Given the description of an element on the screen output the (x, y) to click on. 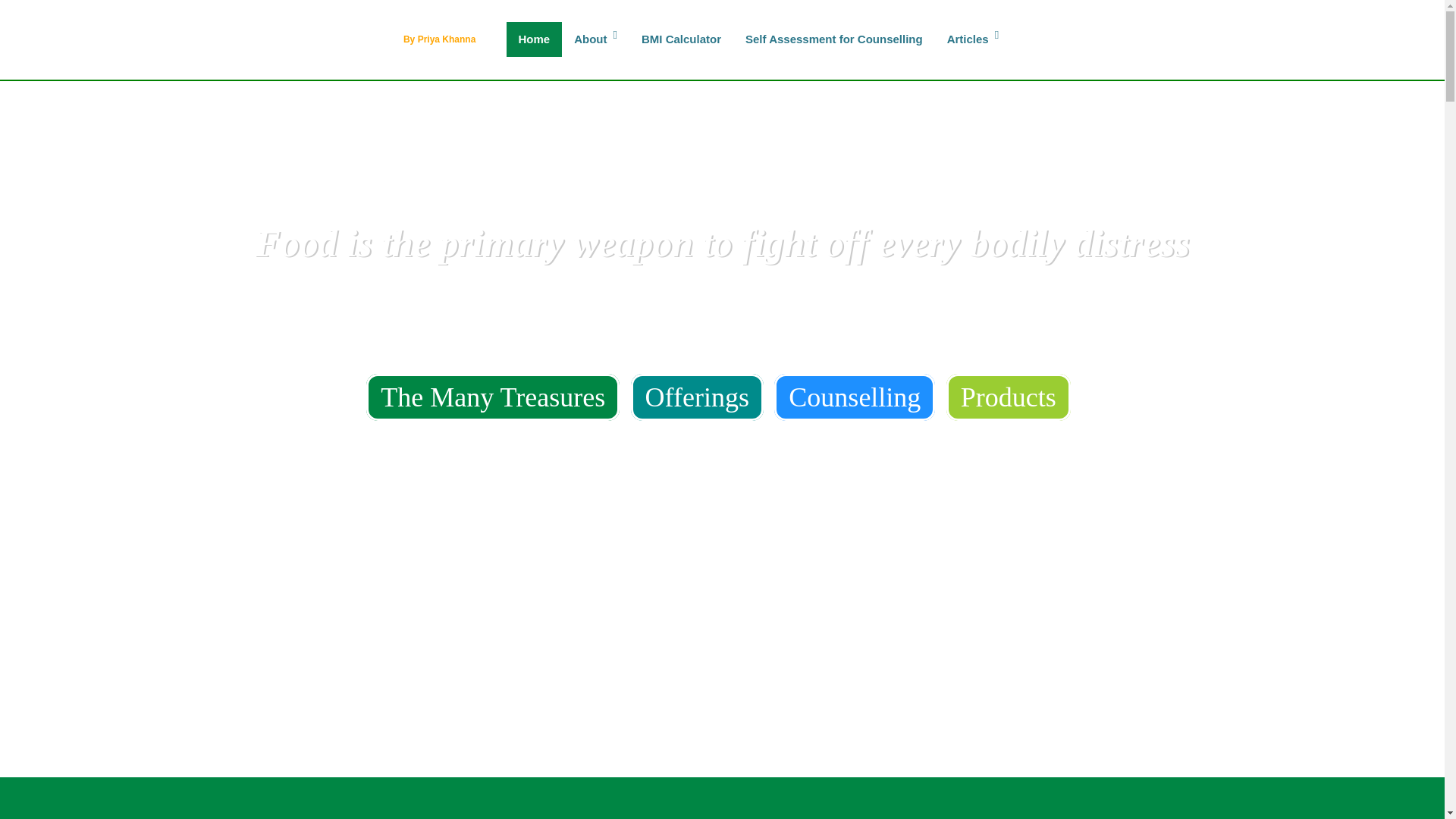
About (595, 39)
The Many Treasures (493, 396)
Articles (972, 39)
BMI Calculator (680, 39)
Products (1008, 396)
Home (534, 39)
Self Assessment for Counselling (833, 39)
Counselling (854, 396)
Offerings (696, 396)
